Given the description of an element on the screen output the (x, y) to click on. 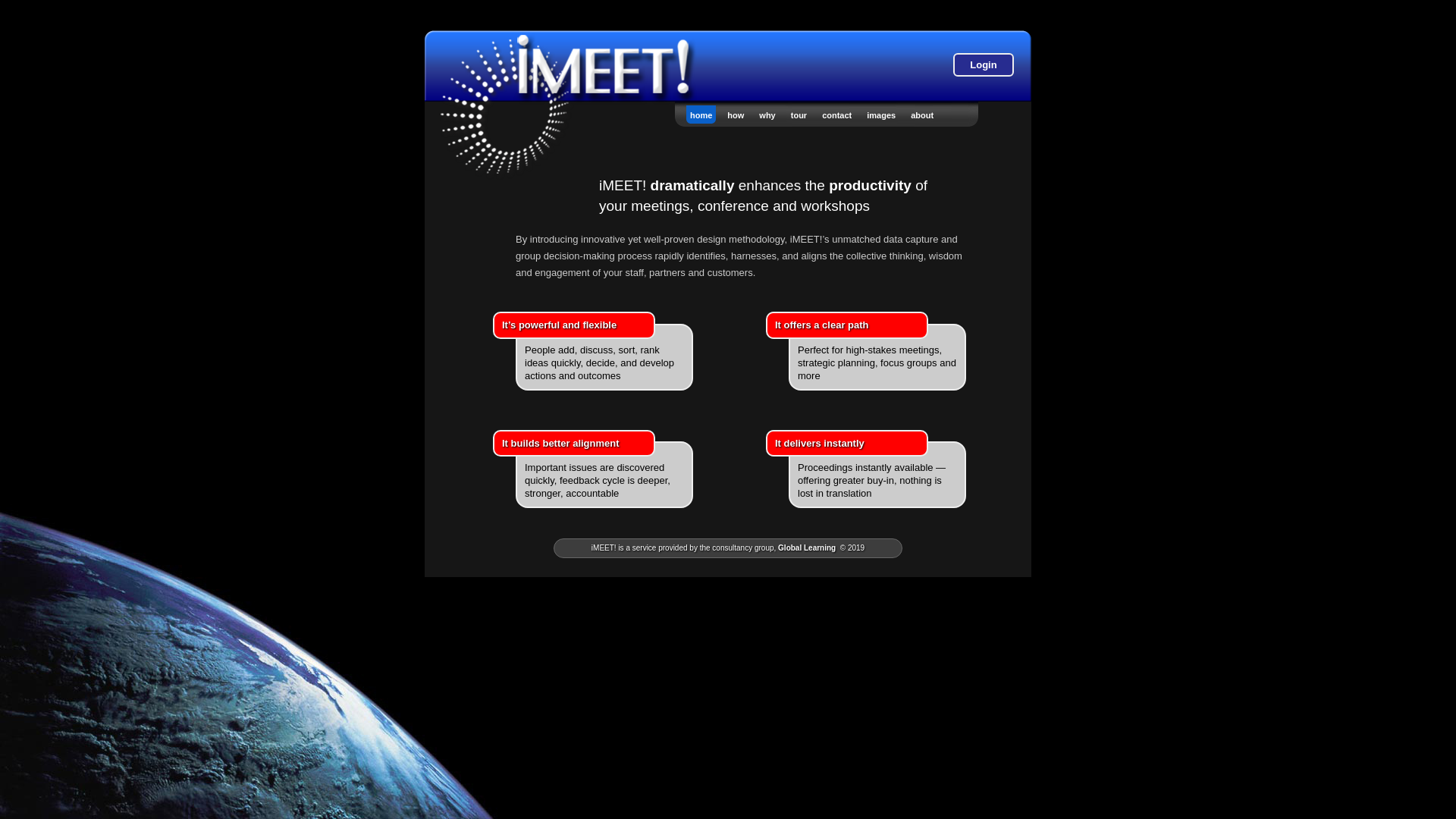
contact Element type: text (836, 114)
about Element type: text (921, 114)
tour Element type: text (798, 114)
how Element type: text (735, 114)
home Element type: text (701, 114)
Login Element type: text (982, 64)
images Element type: text (880, 114)
why Element type: text (767, 114)
Global Learning Element type: text (806, 547)
